Given the description of an element on the screen output the (x, y) to click on. 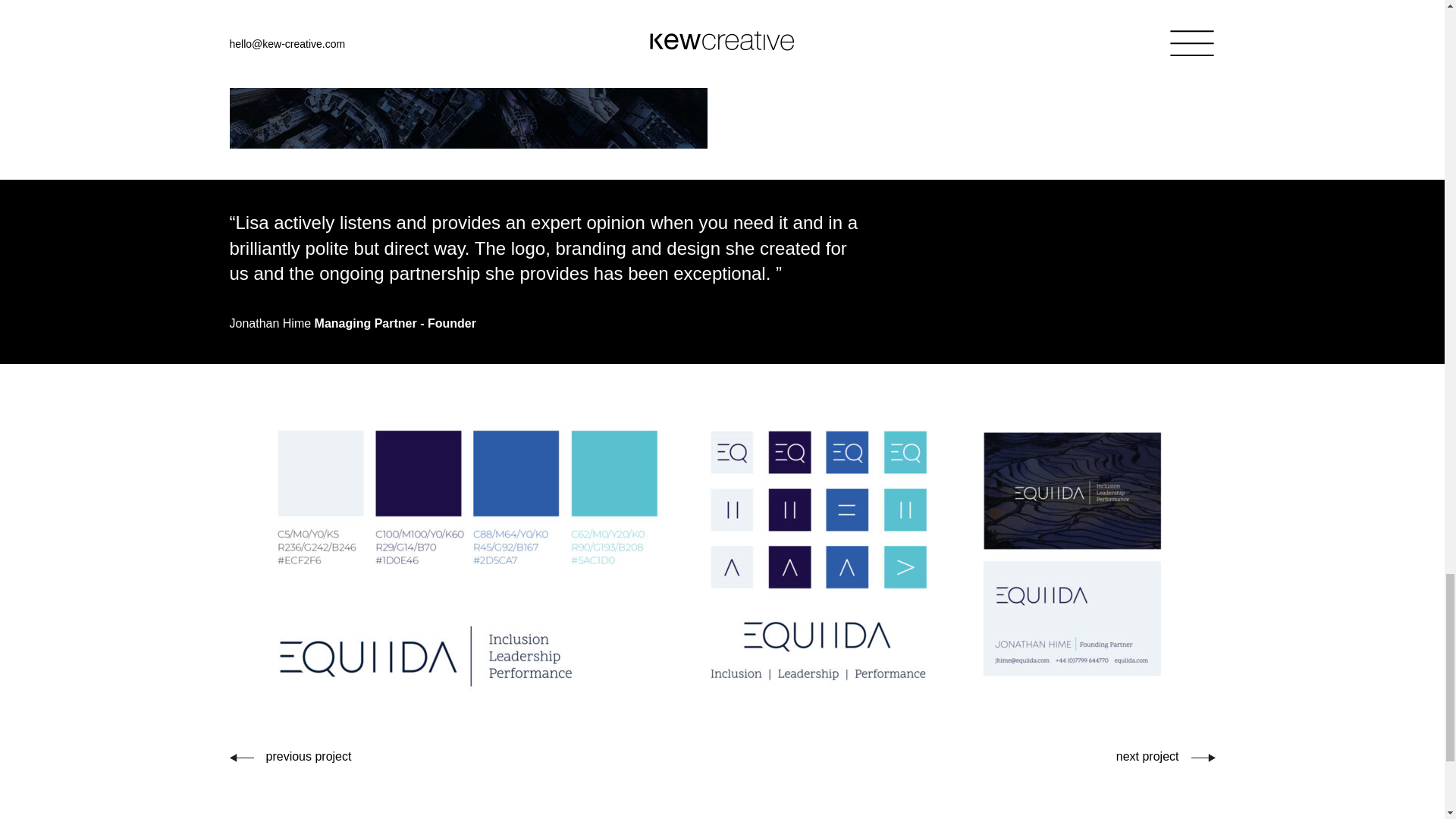
next project (1165, 756)
previous project (289, 756)
